Given the description of an element on the screen output the (x, y) to click on. 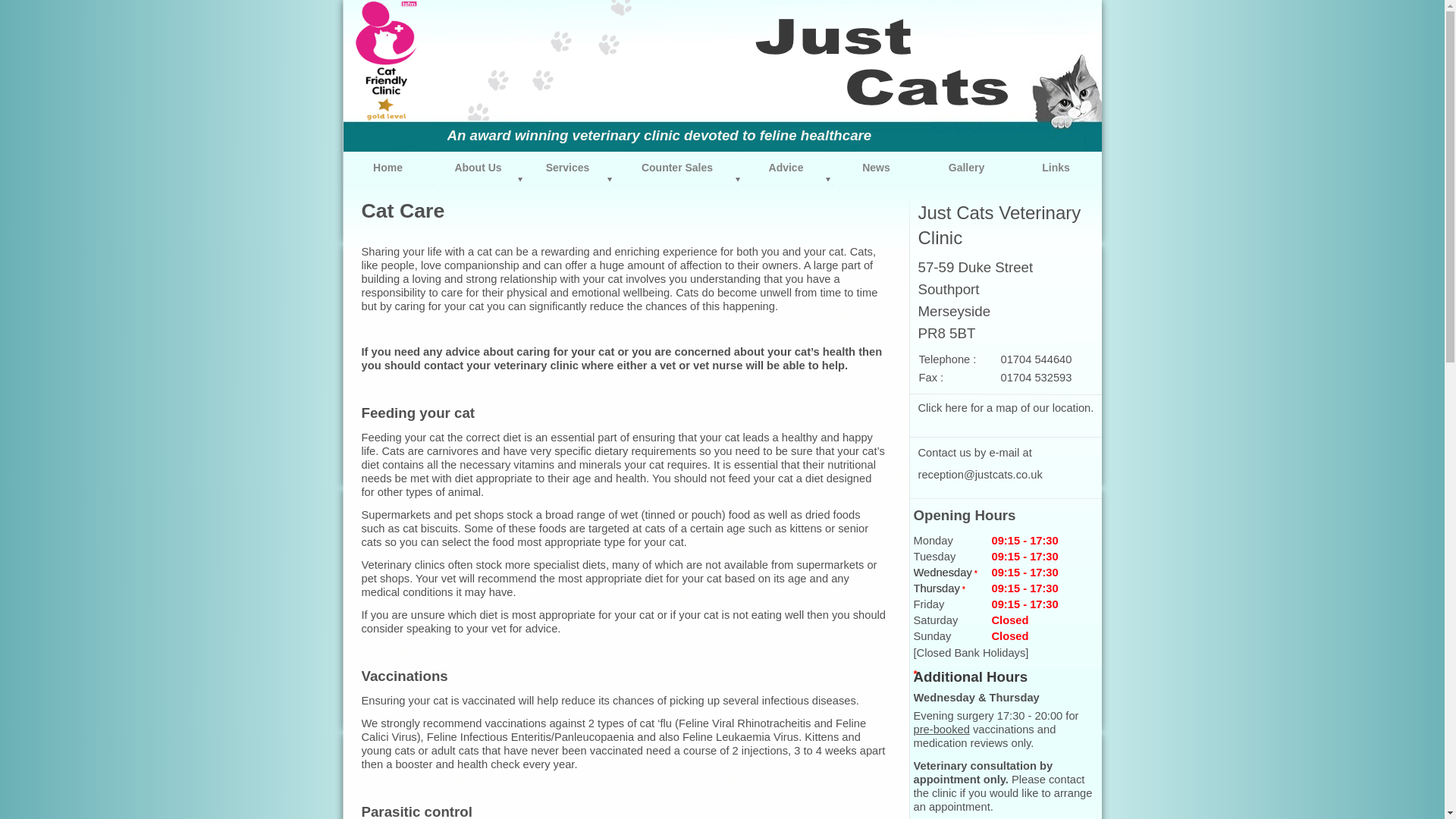
Links (1056, 168)
Advice (786, 168)
Counter Sales (676, 168)
News (876, 168)
here (955, 408)
Home (387, 168)
About Us (478, 168)
Services (567, 168)
Gallery (966, 168)
